Given the description of an element on the screen output the (x, y) to click on. 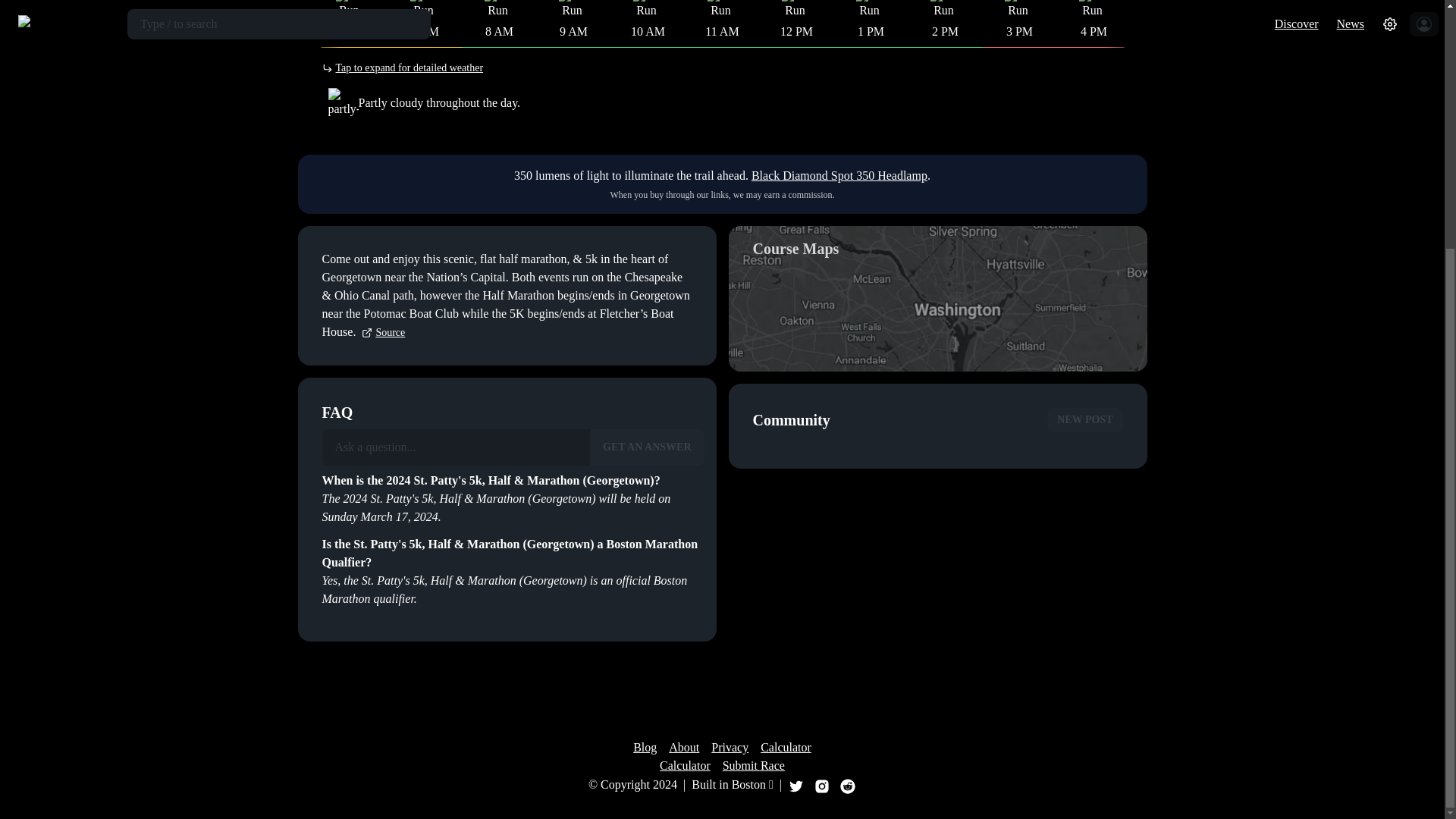
Run Score: 9 (794, 8)
Run Score: 9 (571, 8)
Run Score: 9 (422, 8)
Run Score: 9 (645, 8)
Run Score: 9 (719, 8)
Run Score: 9 (497, 8)
Run Score: 9 (348, 8)
